Given the description of an element on the screen output the (x, y) to click on. 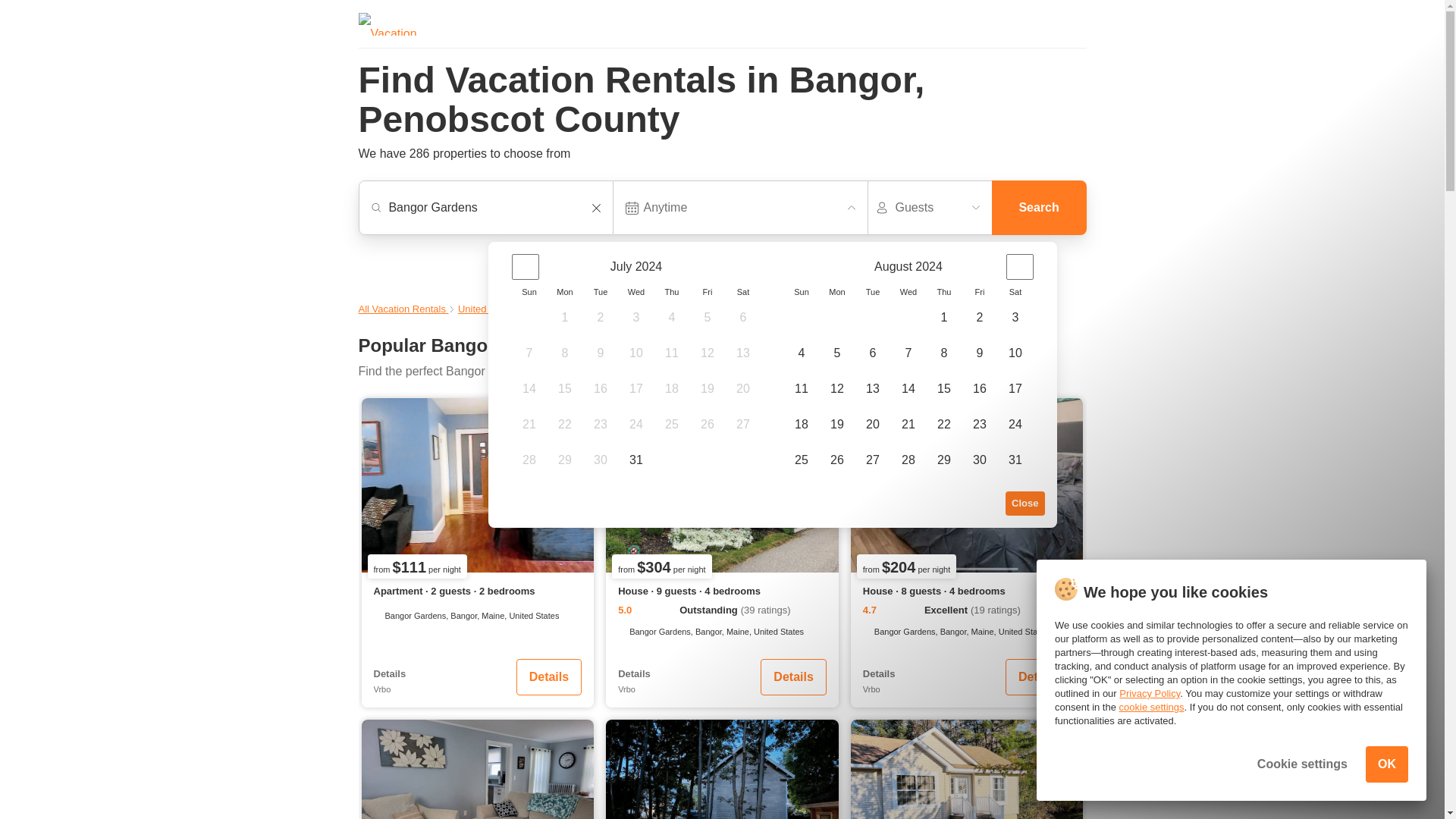
Sat (1015, 291)
Bangor Gardens (493, 207)
All Vacation Rentals (403, 308)
Tue (873, 291)
Sat (742, 291)
OK (1386, 764)
Thu (670, 291)
Privacy Policy (1149, 693)
Bangor Gardens (493, 207)
Cookie settings (1302, 764)
Maine (544, 308)
Fri (980, 291)
Search (1038, 207)
Mon (564, 291)
Thu (944, 291)
